Given the description of an element on the screen output the (x, y) to click on. 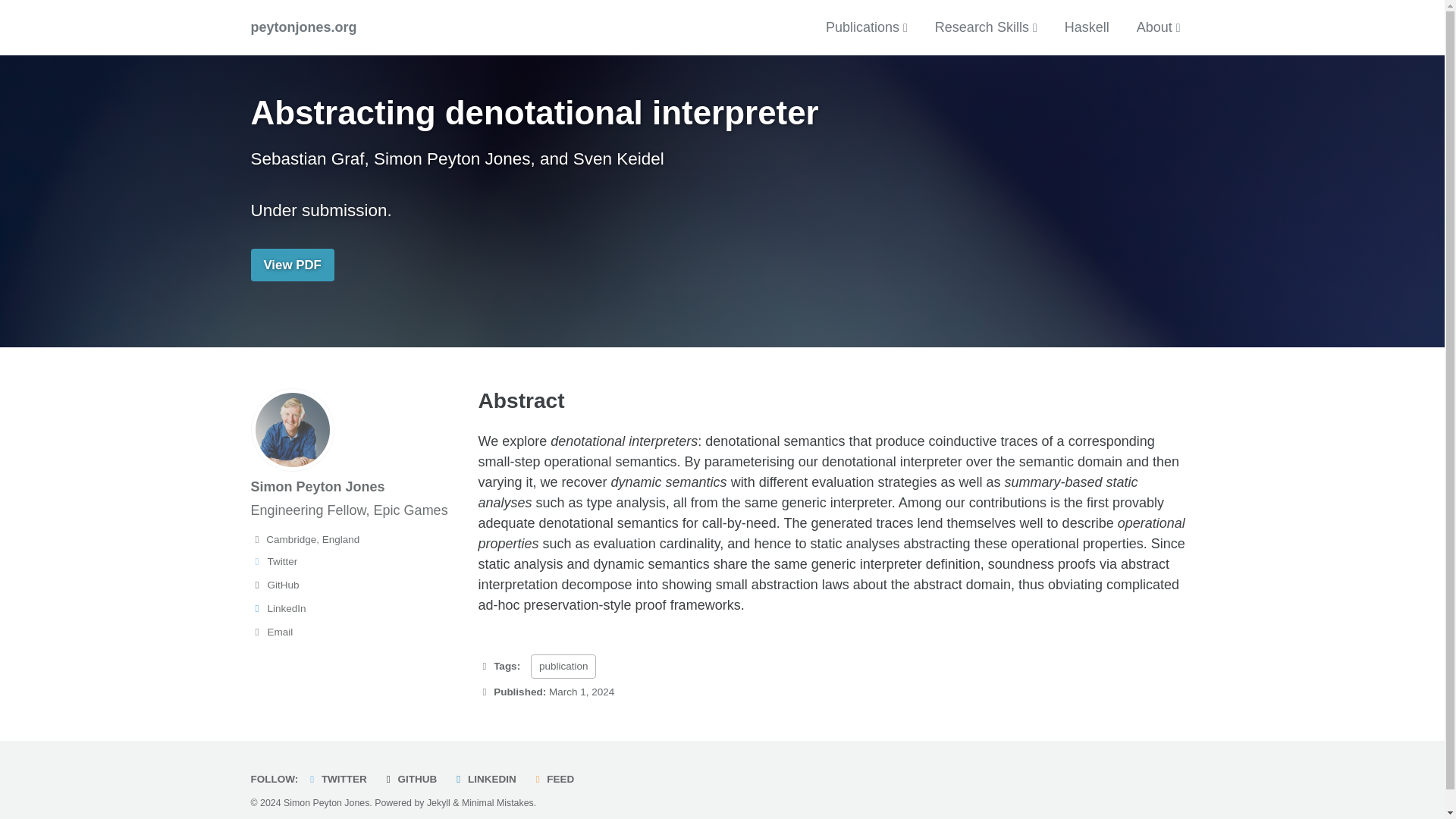
LinkedIn (357, 608)
About (1158, 26)
publication (563, 666)
Minimal Mistakes (497, 802)
Email (357, 632)
Haskell (1086, 26)
Simon Peyton Jones (317, 486)
LINKEDIN (486, 778)
TWITTER (339, 778)
Twitter (357, 561)
Jekyll (437, 802)
FEED (556, 778)
Research Skills (985, 26)
GITHUB (412, 778)
GitHub (357, 585)
